Given the description of an element on the screen output the (x, y) to click on. 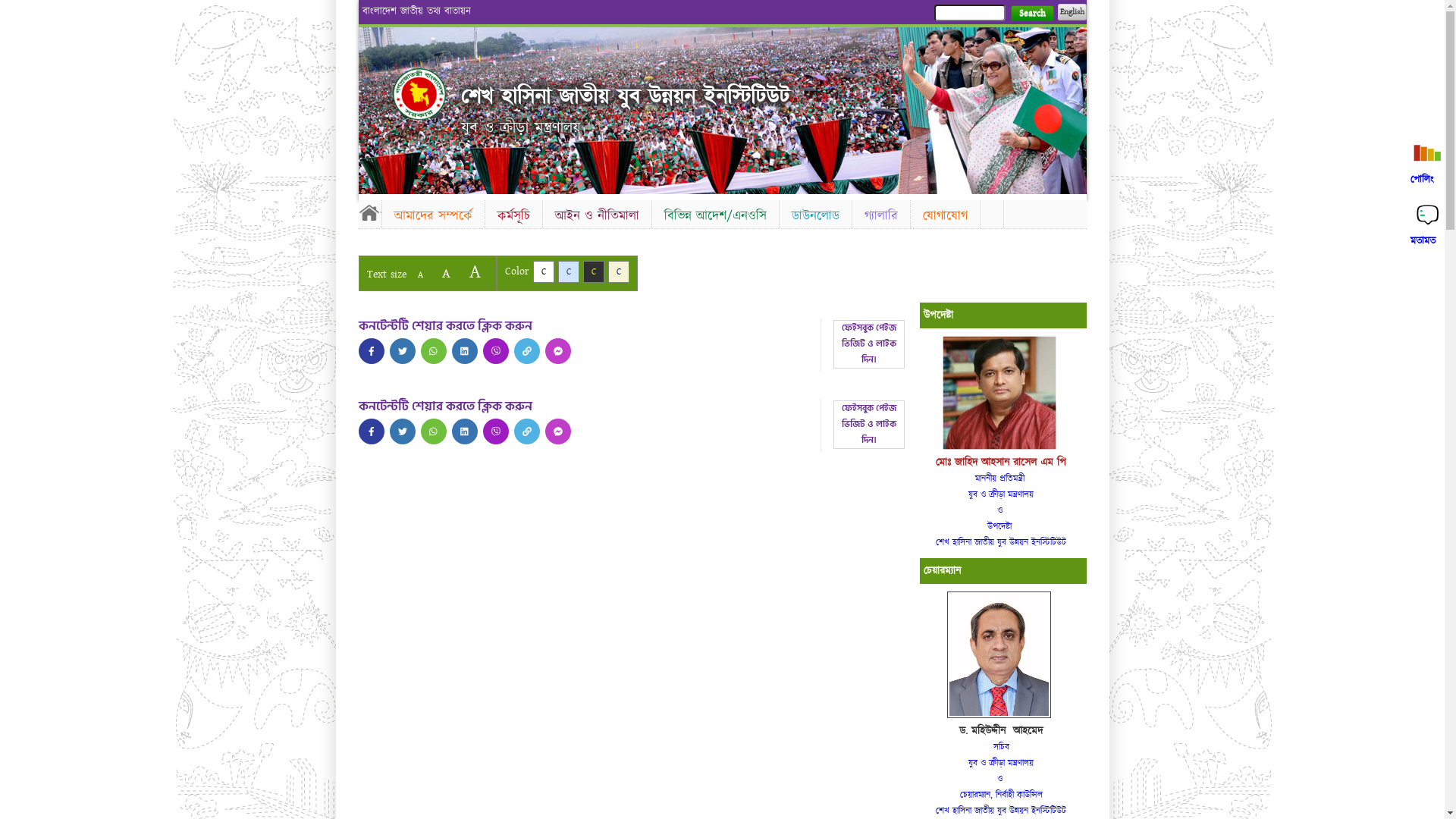
English Element type: text (1071, 11)
Home Element type: hover (368, 211)
C Element type: text (592, 271)
A Element type: text (445, 273)
A Element type: text (419, 274)
C Element type: text (542, 271)
C Element type: text (618, 271)
A Element type: text (474, 271)
Search Element type: text (1031, 13)
C Element type: text (568, 271)
Home Element type: hover (418, 93)
